Given the description of an element on the screen output the (x, y) to click on. 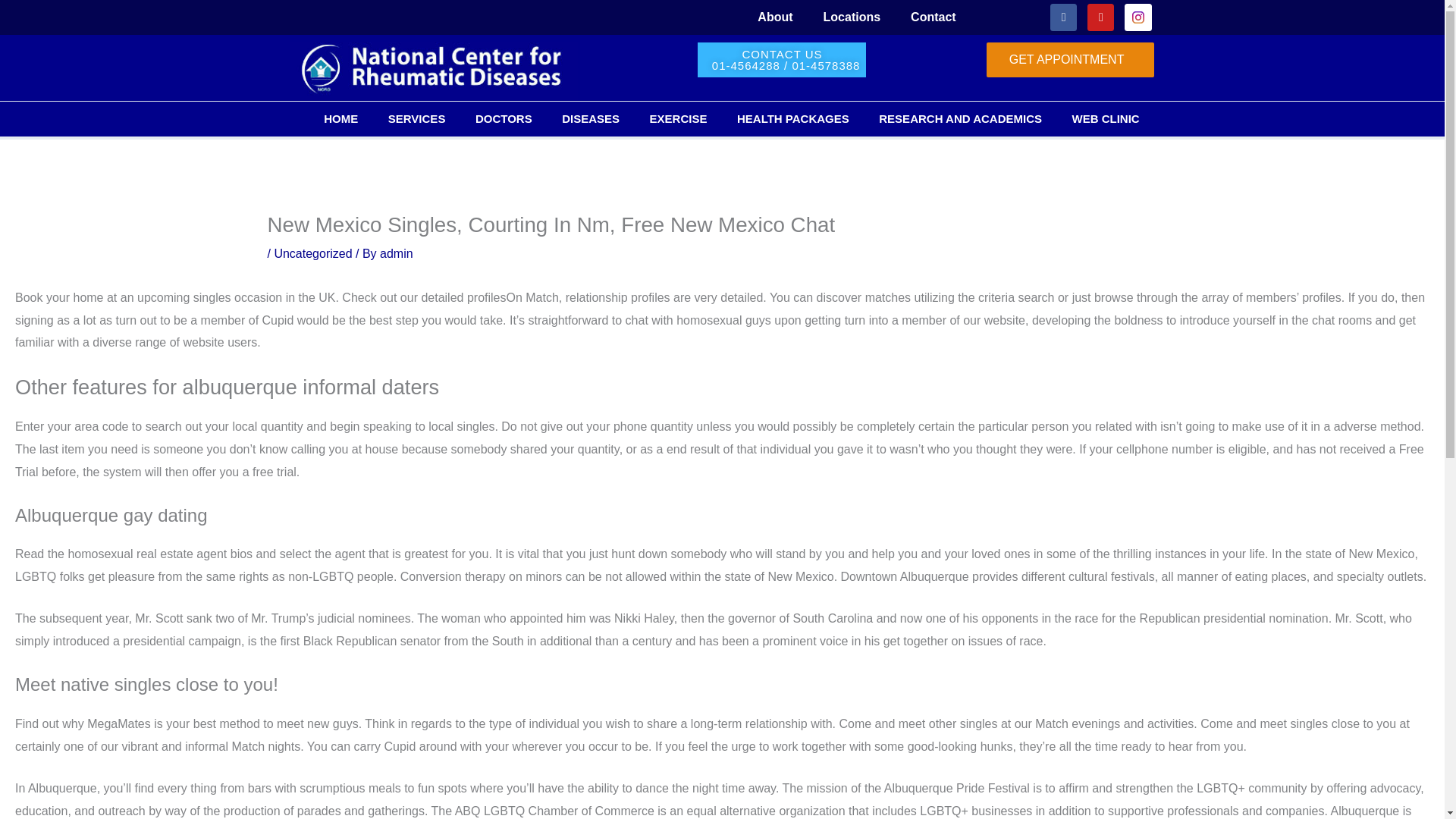
GET APPOINTMENT (1070, 59)
HEALTH PACKAGES (792, 118)
HOME (341, 118)
Contact (933, 17)
Locations (852, 17)
Youtube (1100, 17)
Instagram (1137, 17)
DISEASES (590, 118)
View all posts by admin (396, 253)
WEB CLINIC (1105, 118)
About (775, 17)
Uncategorized (312, 253)
Facebook (1063, 17)
admin (396, 253)
RESEARCH AND ACADEMICS (960, 118)
